Given the description of an element on the screen output the (x, y) to click on. 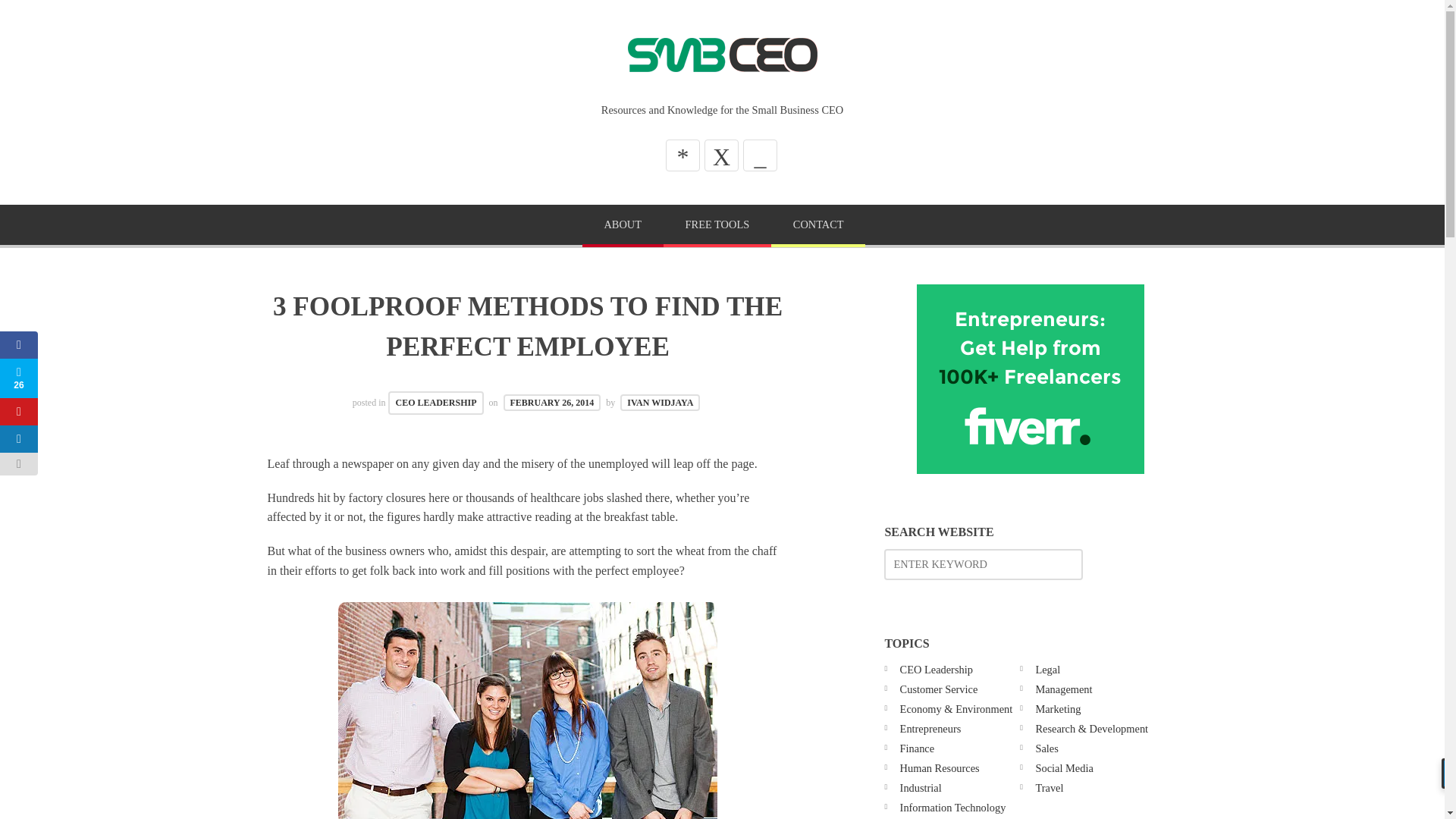
Finance (916, 748)
CEO Leadership (935, 669)
CEO LEADERSHIP (435, 402)
CONTACT (817, 225)
View all posts by Ivan Widjaya (660, 402)
IVAN WIDJAYA (660, 402)
X (721, 155)
FEBRUARY 26, 2014 (552, 402)
FREE TOOLS (717, 225)
ABOUT (622, 225)
